Given the description of an element on the screen output the (x, y) to click on. 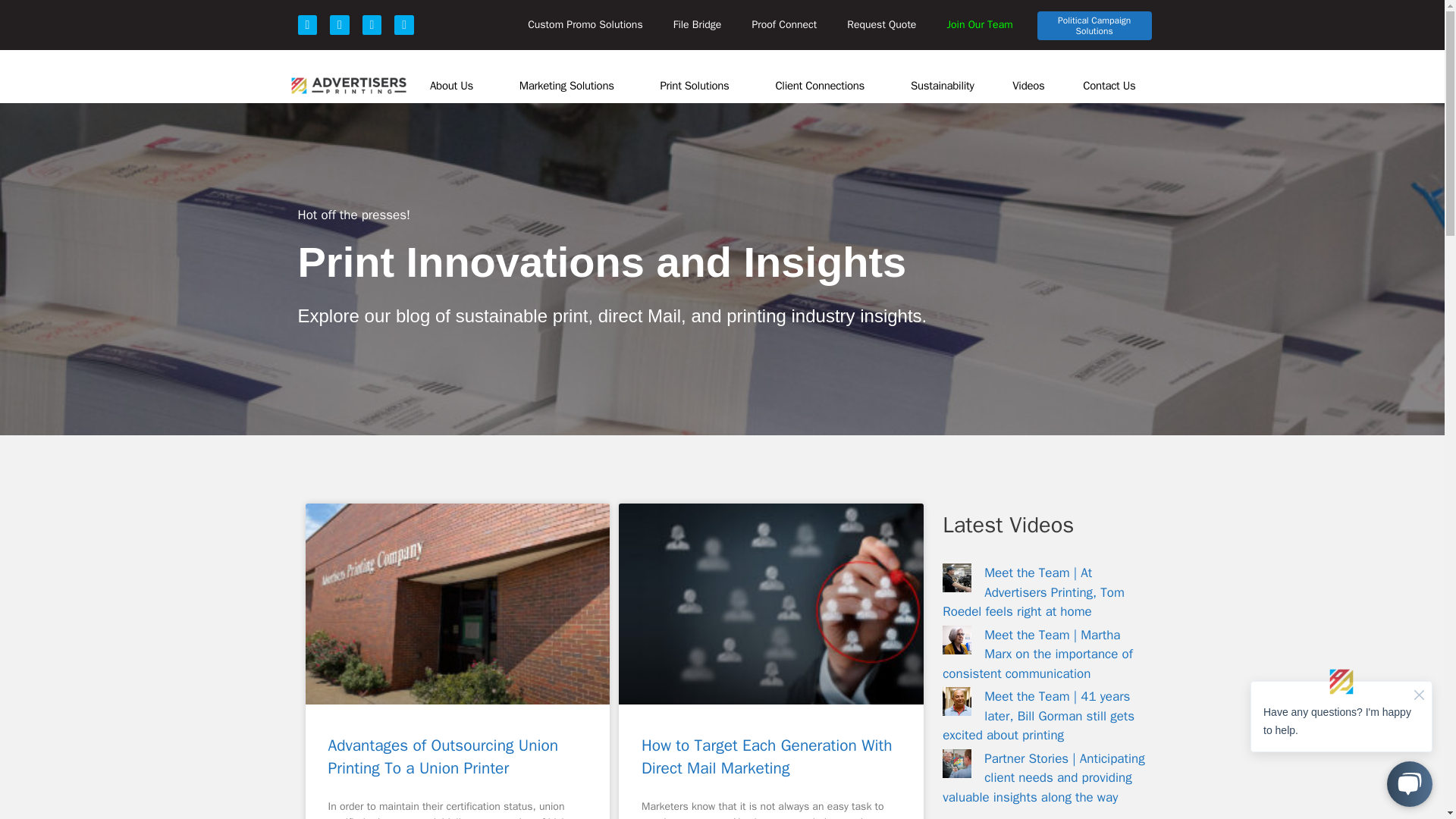
Custom Promo Solutions (585, 24)
Proof Connect (783, 24)
Join Our Team (979, 24)
Political Campaign Solutions (1093, 25)
File Bridge (697, 24)
Request Quote (881, 24)
